Given the description of an element on the screen output the (x, y) to click on. 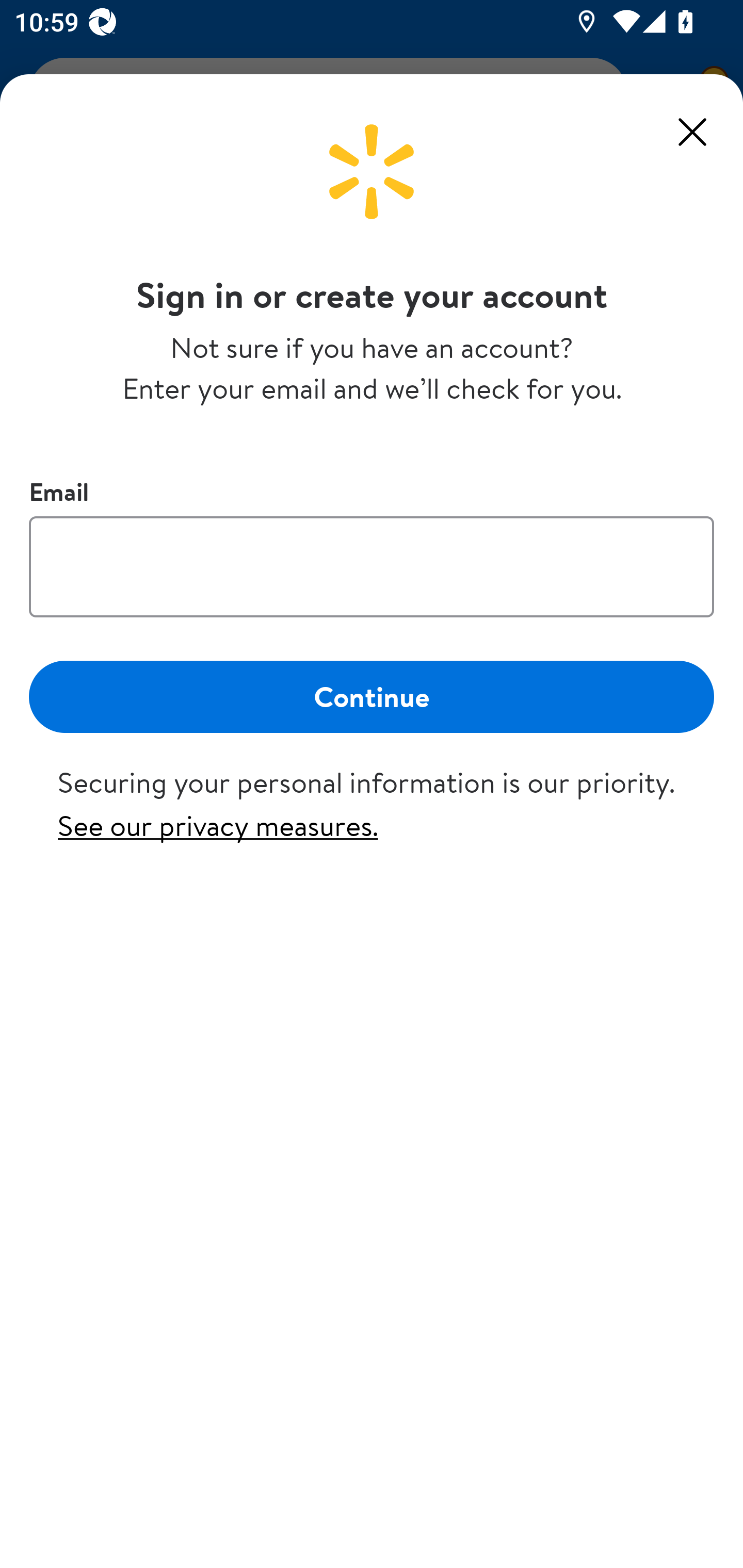
Close (692, 131)
Email (371, 566)
Continue (371, 696)
